Given the description of an element on the screen output the (x, y) to click on. 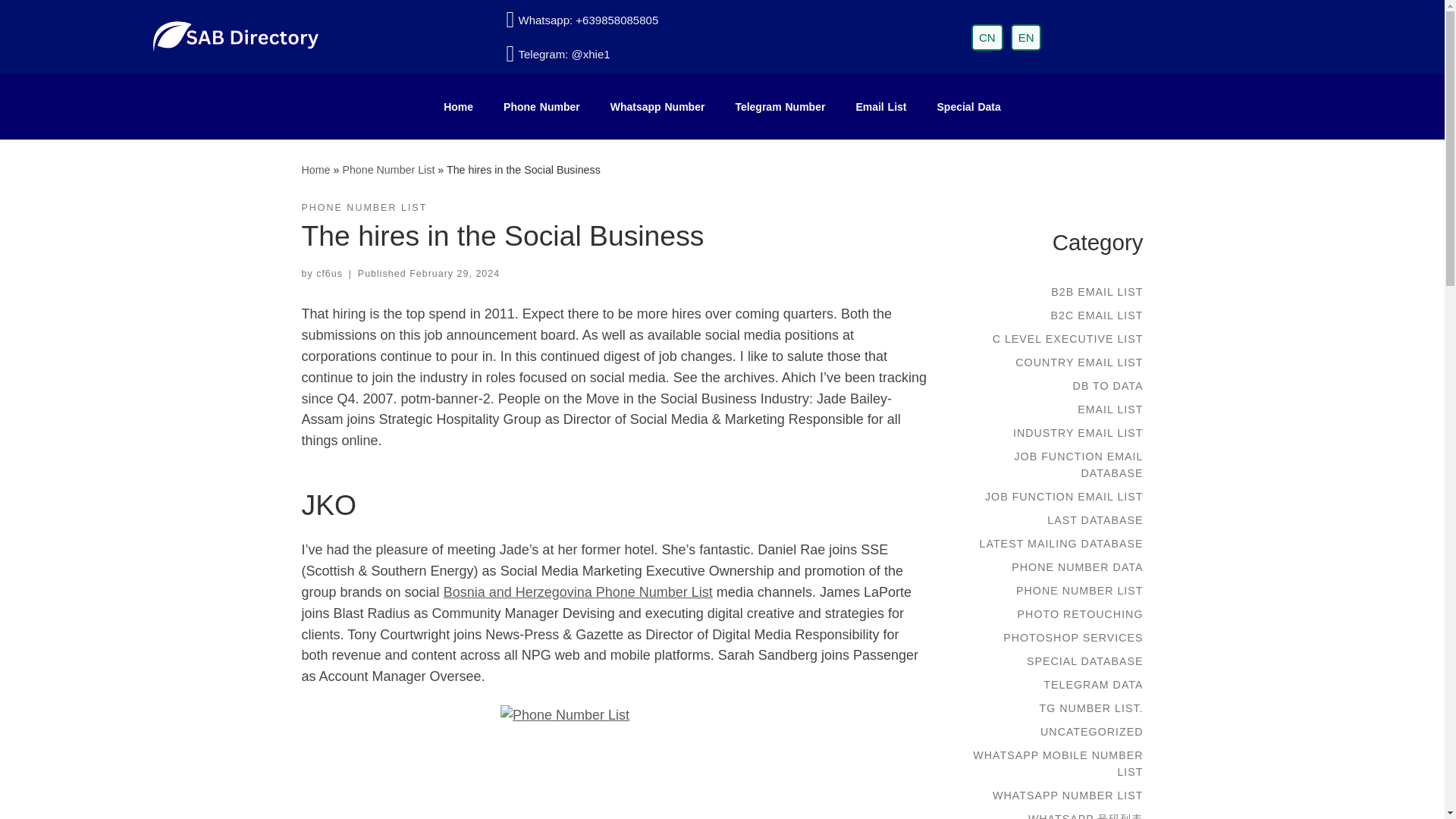
Phone Number (541, 106)
View all posts in Phone Number List (364, 207)
Telegram Number (779, 106)
Phone Number List (387, 169)
EN (1026, 37)
PHONE NUMBER LIST (364, 207)
Email List (880, 106)
cf6us (328, 273)
7:20 am (454, 273)
Bosnia and Herzegovina Phone Number List (578, 591)
Home (315, 169)
View all posts by cf6us (328, 273)
February 29, 2024 (454, 273)
Whatsapp Number (657, 106)
Special Data (968, 106)
